Given the description of an element on the screen output the (x, y) to click on. 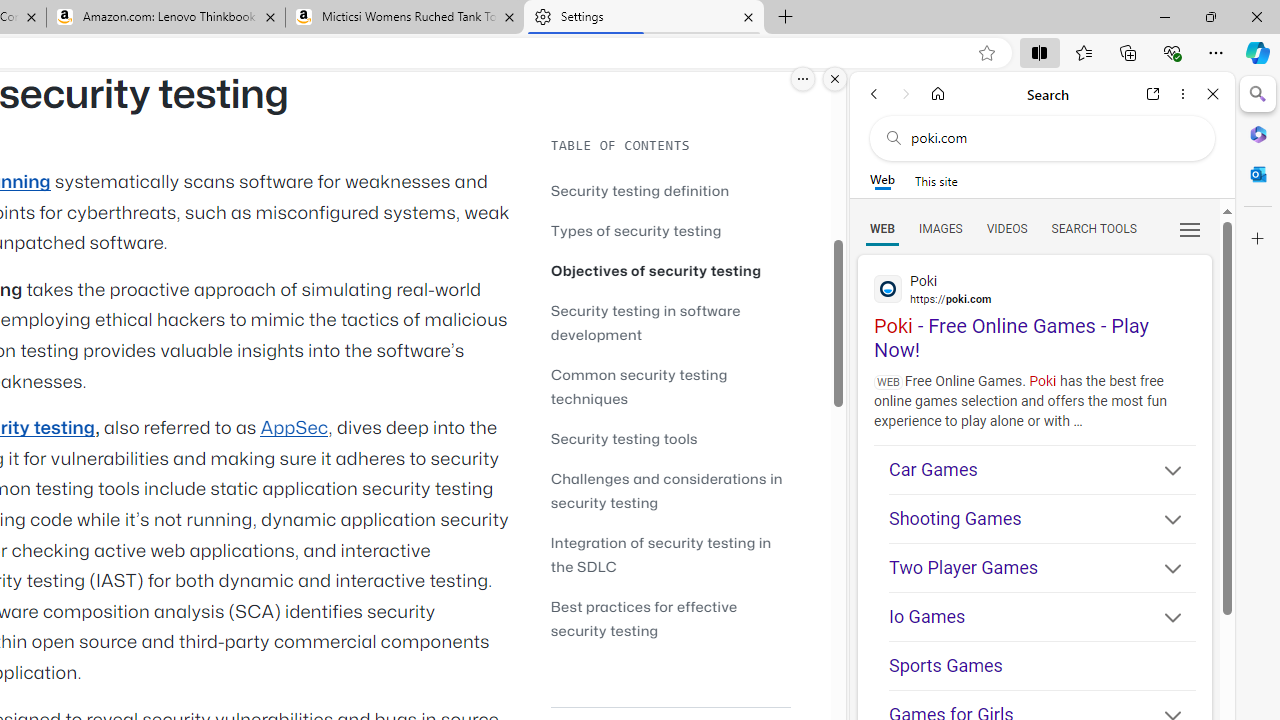
Show More Car Games (1164, 472)
Security testing definition (670, 190)
Challenges and considerations in security testing (666, 490)
Security testing in software development (645, 321)
Types of security testing (670, 230)
